Given the description of an element on the screen output the (x, y) to click on. 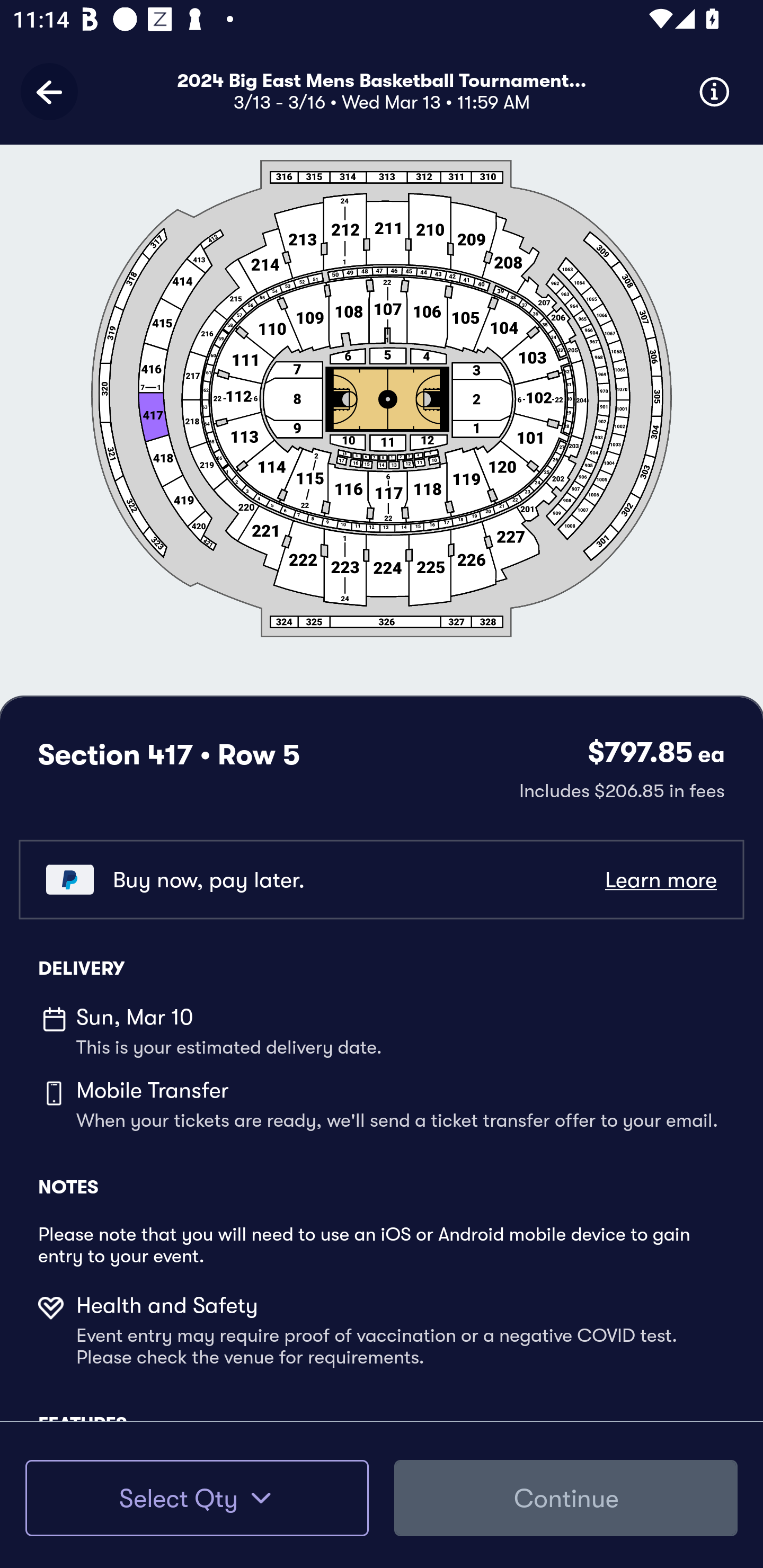
Learn more (660, 880)
Select Qty (196, 1497)
Continue (565, 1497)
